Given the description of an element on the screen output the (x, y) to click on. 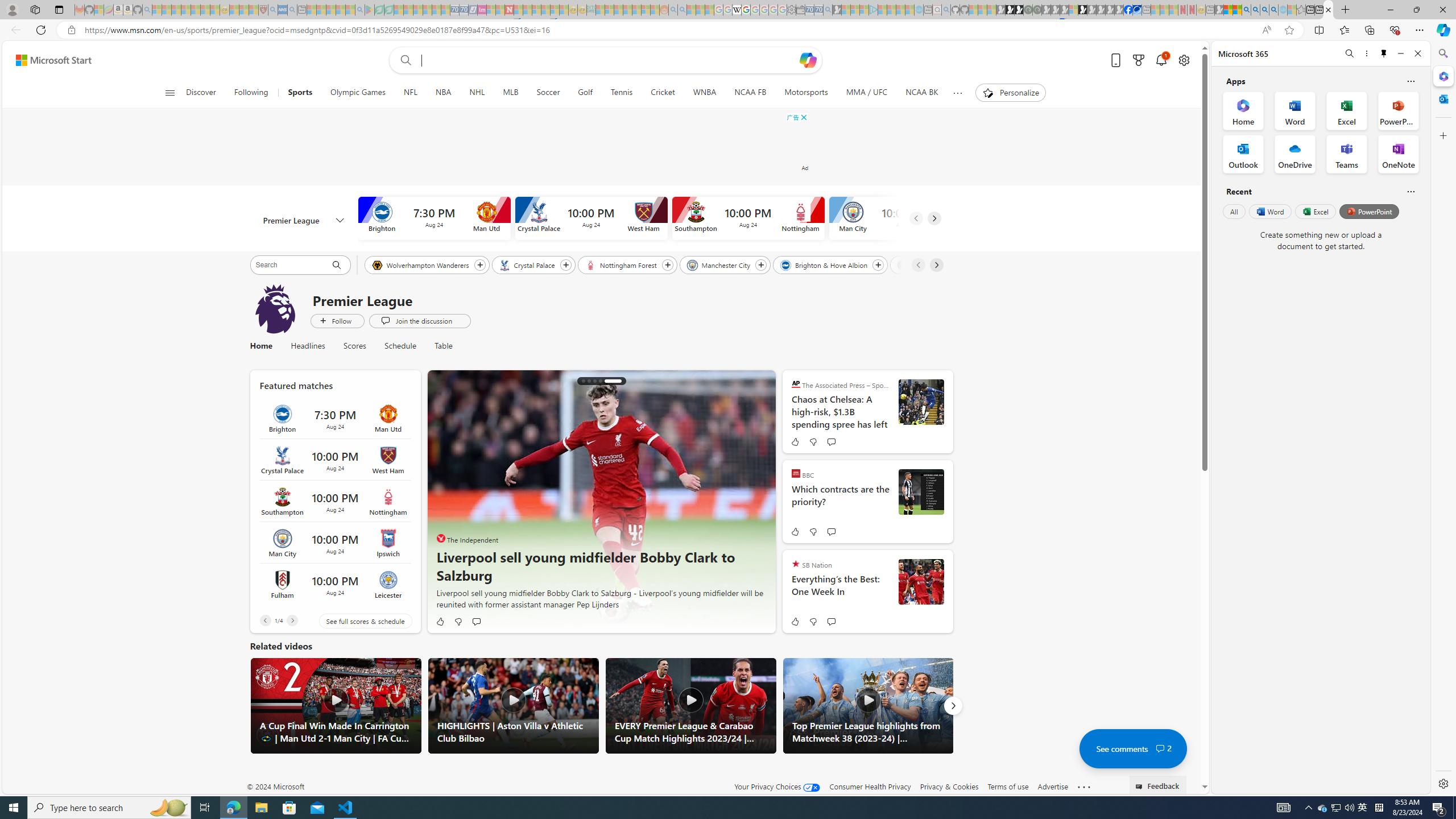
Show more topics (956, 92)
Excel Office App (1346, 110)
Crystal Palace vs West Ham Time 10:00 PM Date Aug 24 (334, 459)
MSN - Sleeping (1218, 9)
NCAA BK (922, 92)
Class: oneFooter_seeMore-DS-EntryPoint1-1 (1083, 786)
